Given the description of an element on the screen output the (x, y) to click on. 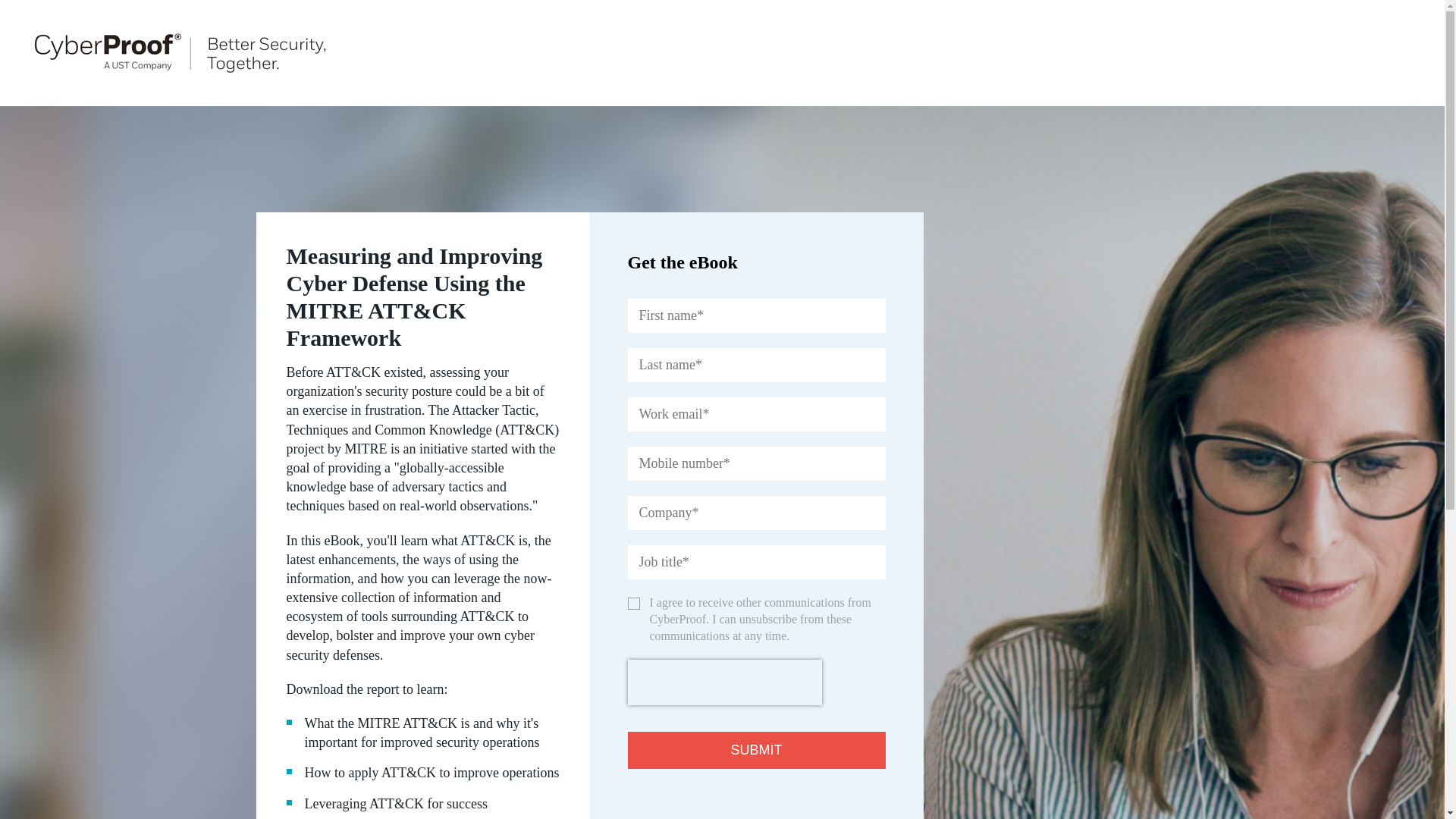
reCAPTCHA (724, 682)
SUBMIT (756, 750)
SUBMIT (756, 750)
